Given the description of an element on the screen output the (x, y) to click on. 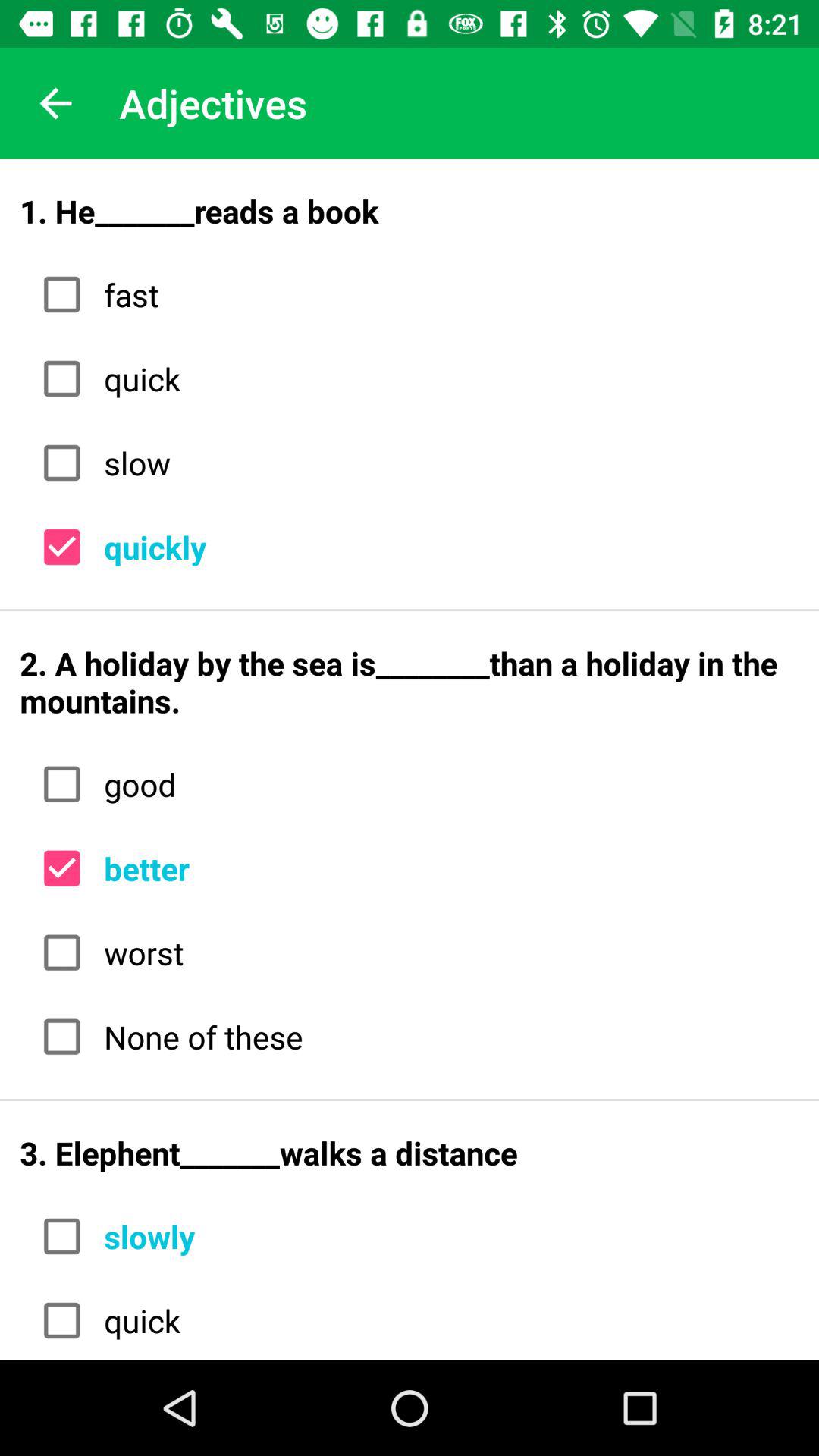
choose the item above the quick (446, 294)
